Given the description of an element on the screen output the (x, y) to click on. 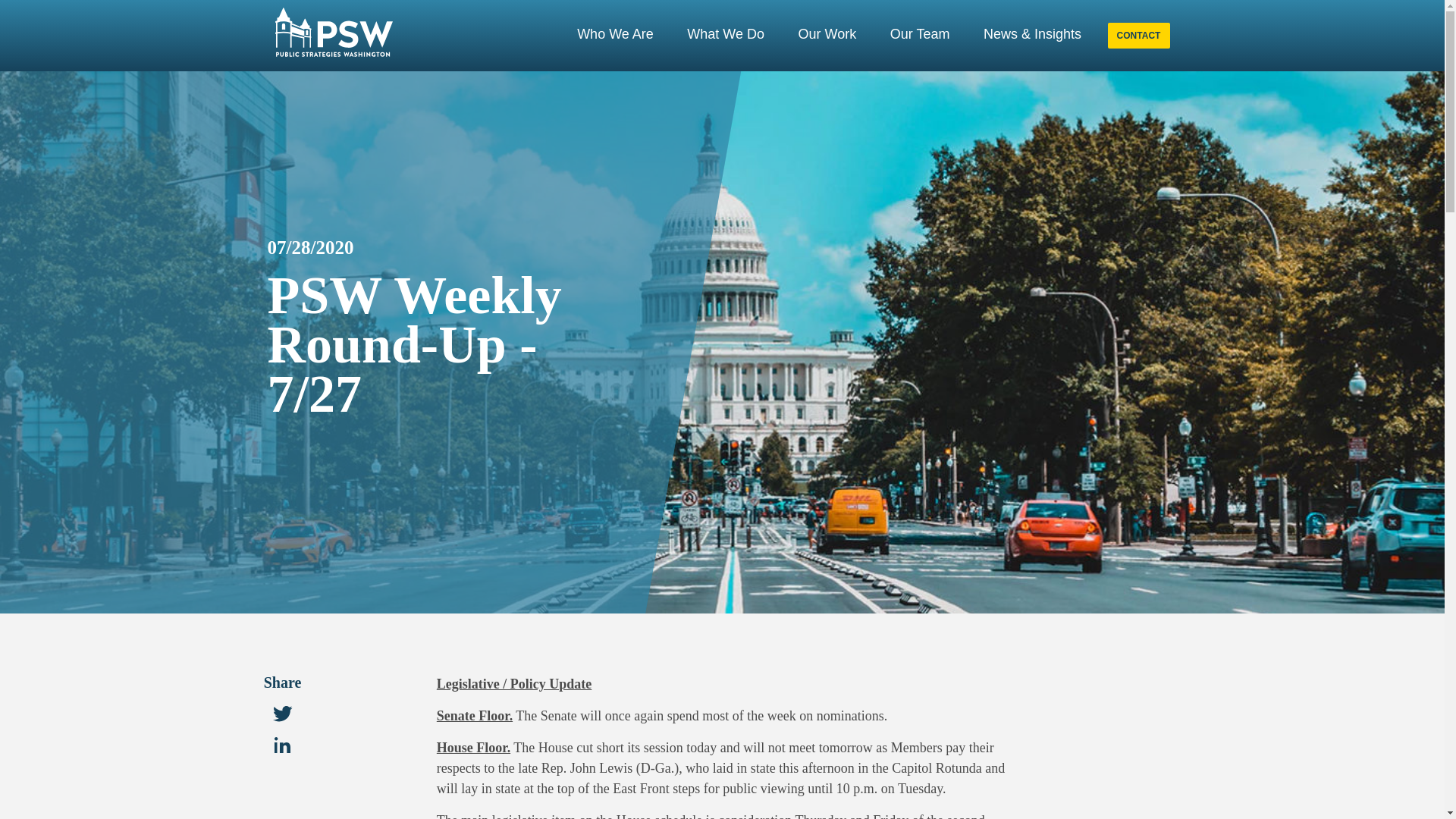
Who We Are (615, 33)
Our Team (920, 41)
CONTACT (1137, 35)
Our Work (827, 33)
What We Do (724, 41)
